Given the description of an element on the screen output the (x, y) to click on. 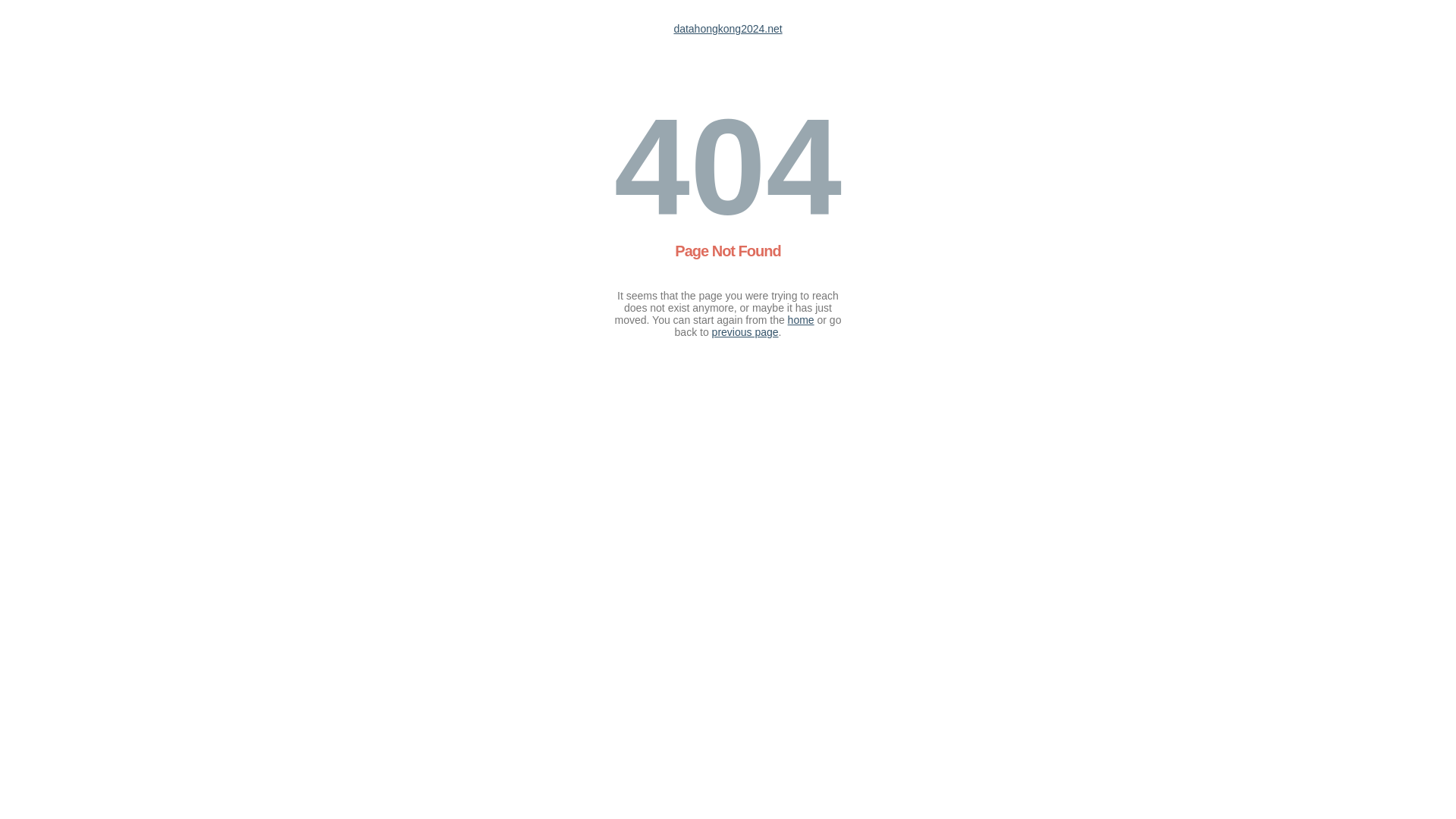
datahongkong2024.net Element type: text (727, 28)
previous page Element type: text (745, 332)
home Element type: text (800, 319)
